Given the description of an element on the screen output the (x, y) to click on. 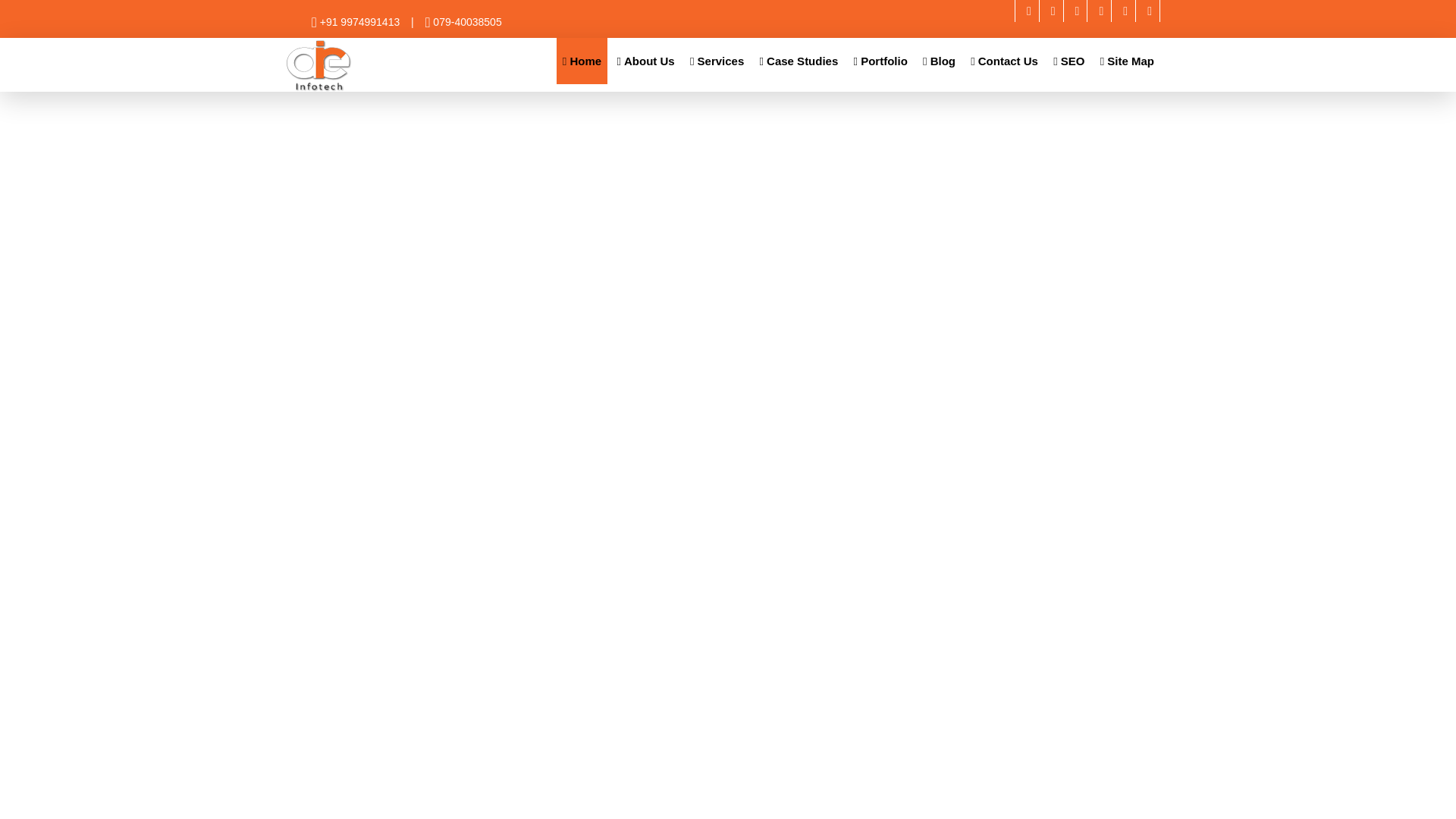
Services (716, 60)
Home (581, 60)
Home (581, 60)
About Us (644, 60)
About Us (644, 60)
Services (716, 60)
ARE InfoTech (319, 65)
ARE InfoTech on Whatsapp (1146, 10)
